Given the description of an element on the screen output the (x, y) to click on. 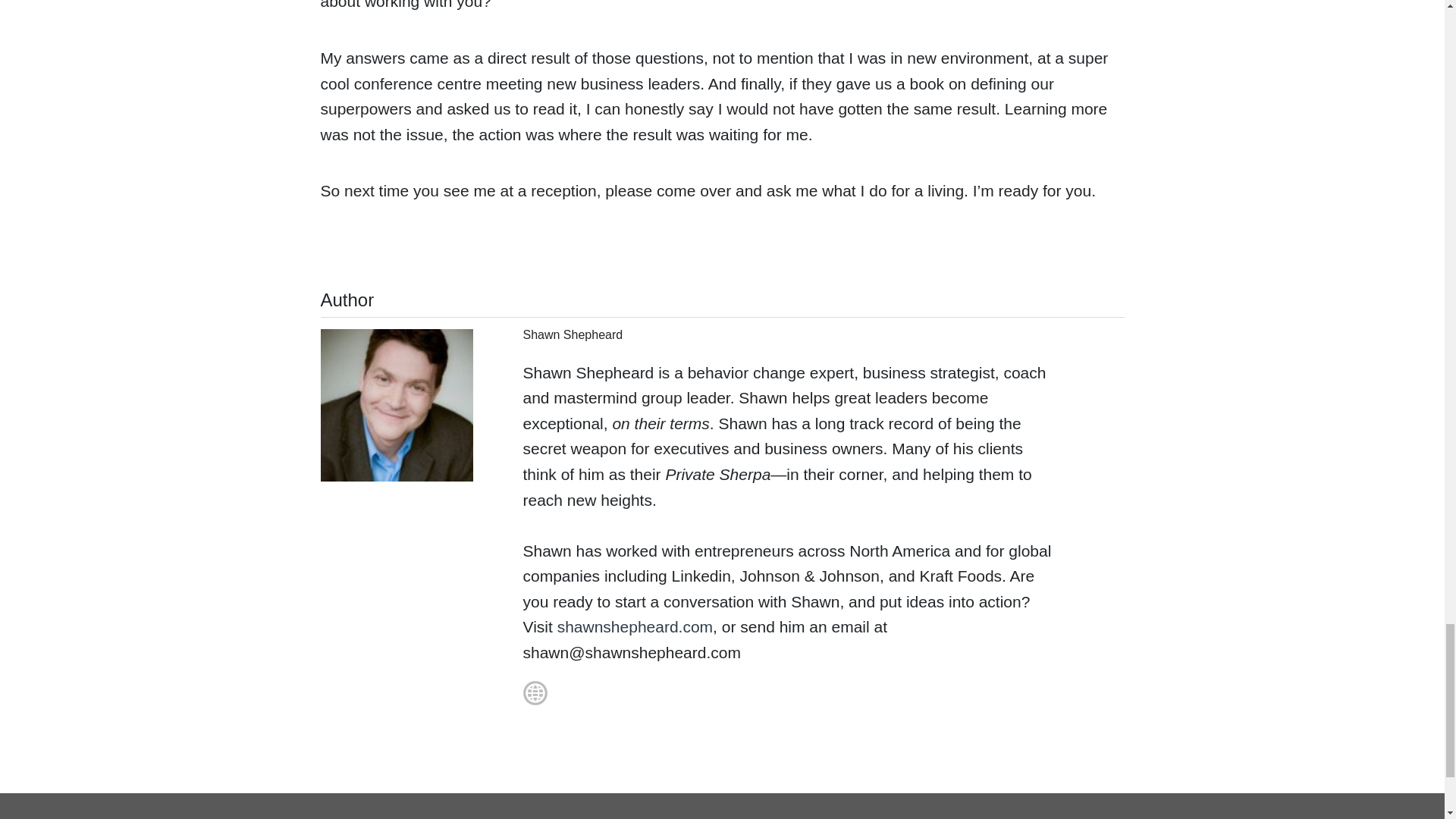
Shawn Shepheard's website (520, 704)
shawnshepheard.com (635, 626)
